Given the description of an element on the screen output the (x, y) to click on. 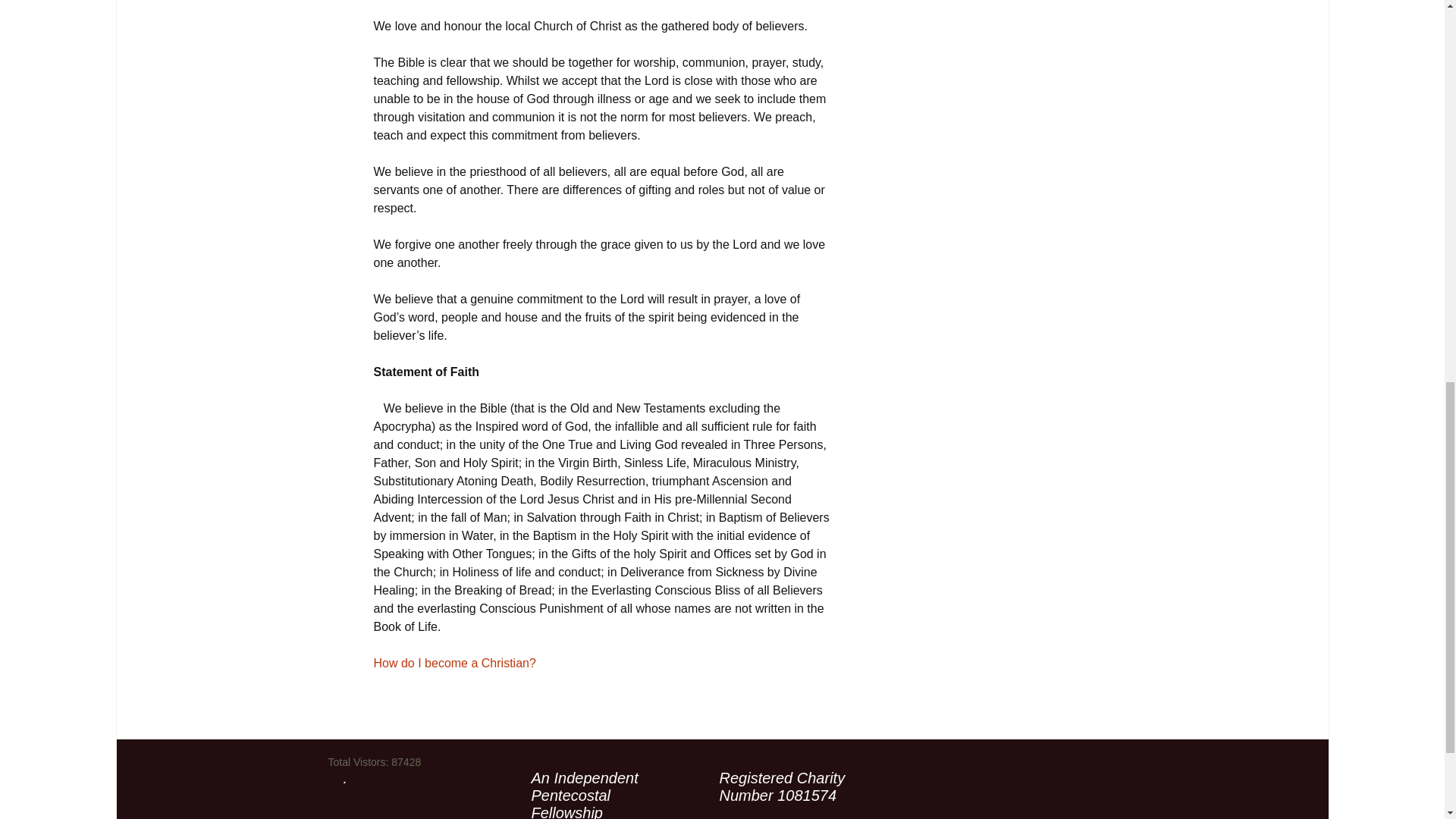
How do I become a Christian? (453, 662)
How do I become a Christian? (453, 662)
